Given the description of an element on the screen output the (x, y) to click on. 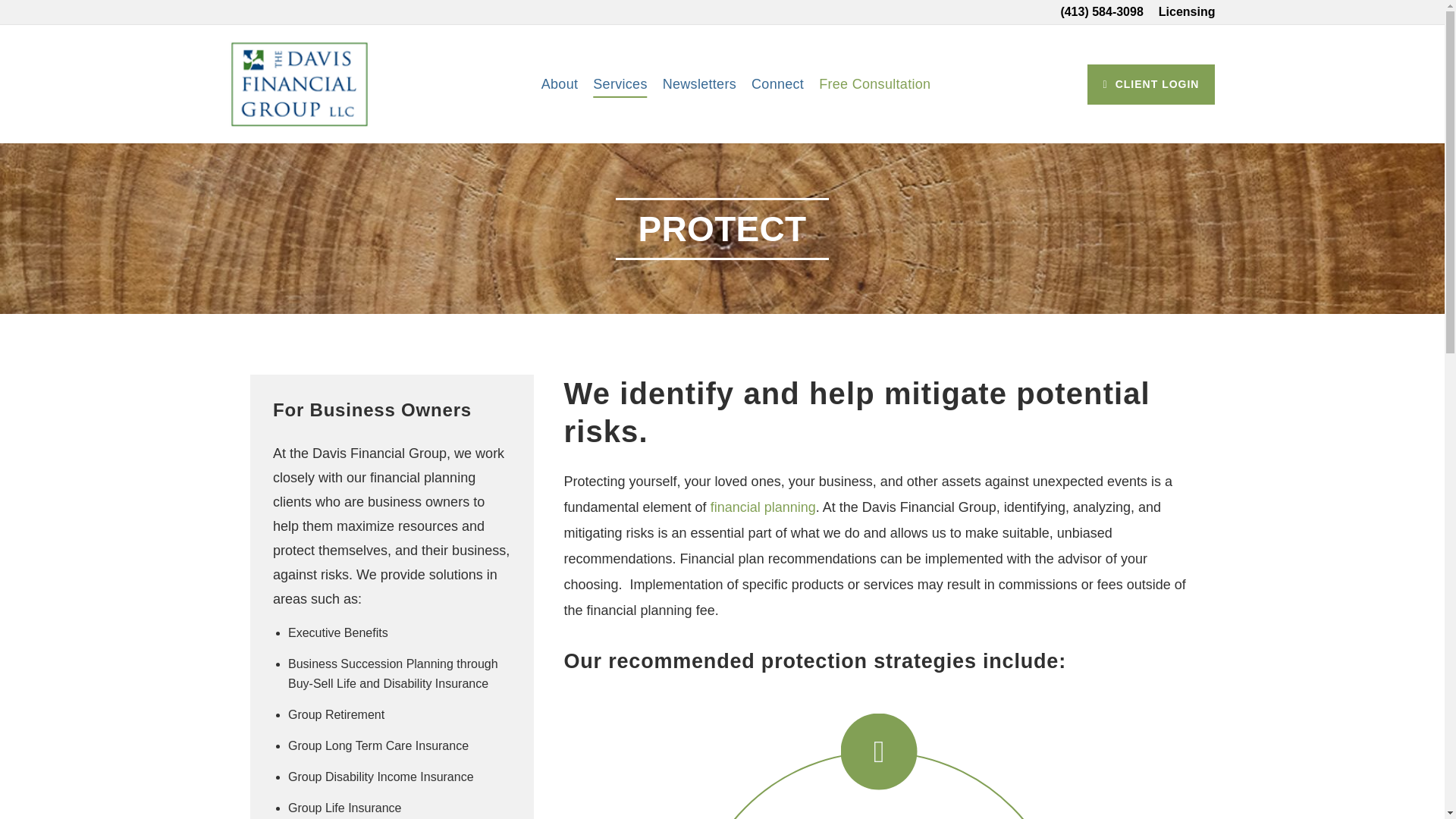
Free Consultation (874, 83)
Licensing (1186, 11)
CLIENT LOGIN (1151, 83)
financial planning (762, 507)
